Given the description of an element on the screen output the (x, y) to click on. 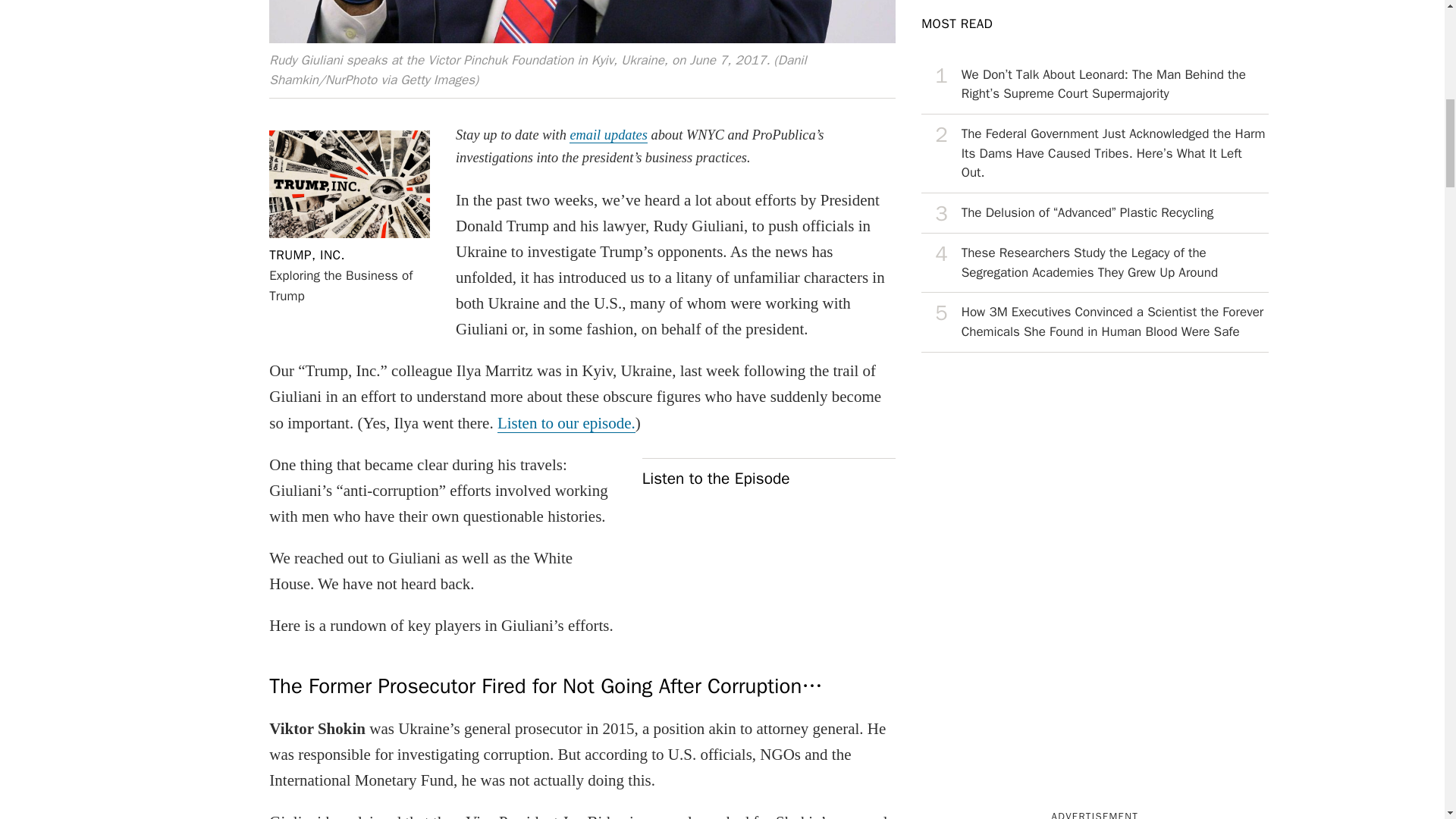
email updates (608, 135)
View this (1094, 84)
View this (1094, 262)
Listen to our episode. (565, 423)
View this (1094, 322)
View this (1094, 153)
View this (307, 255)
